Given the description of an element on the screen output the (x, y) to click on. 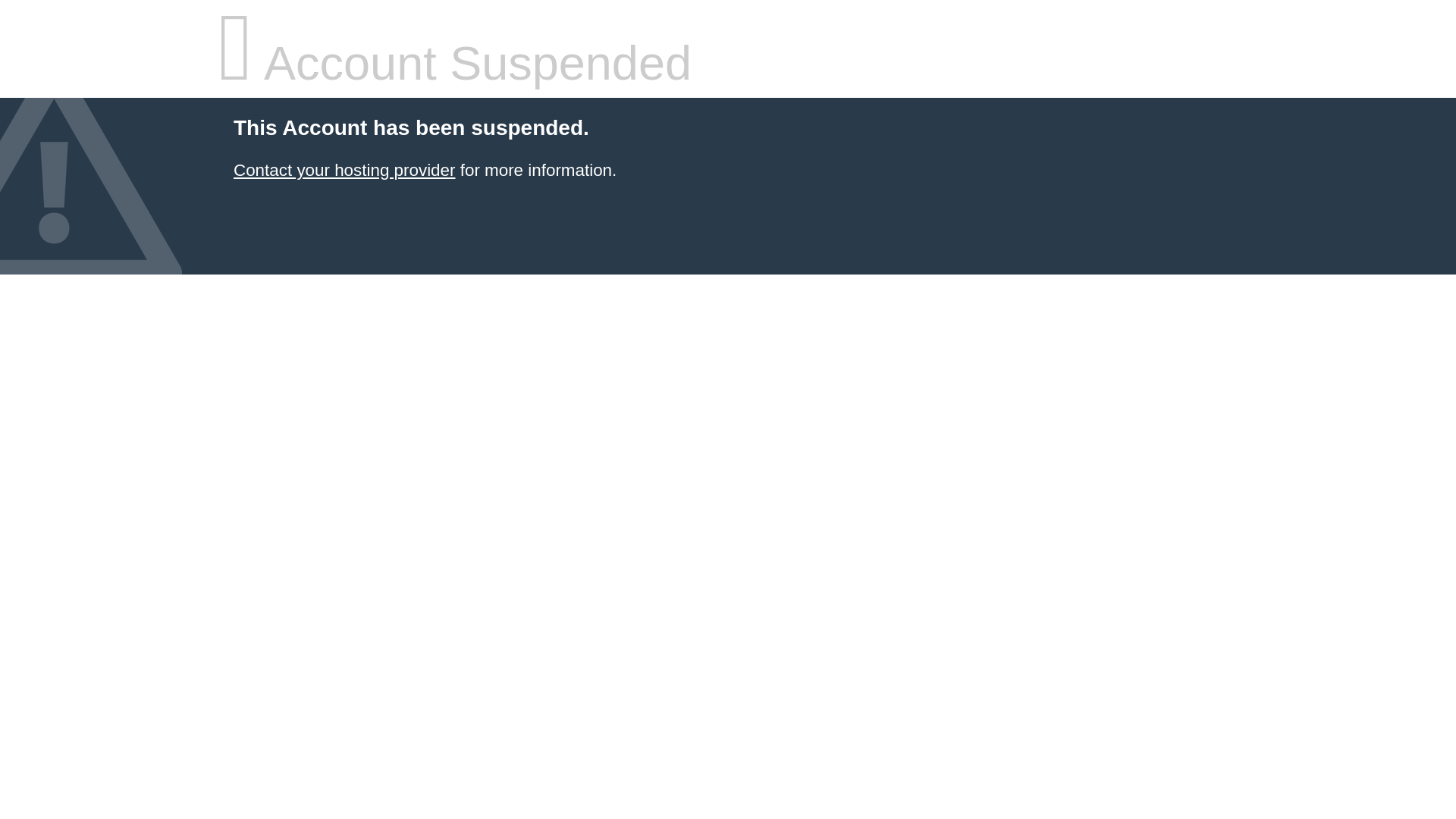
Contact your hosting provider (343, 169)
